Given the description of an element on the screen output the (x, y) to click on. 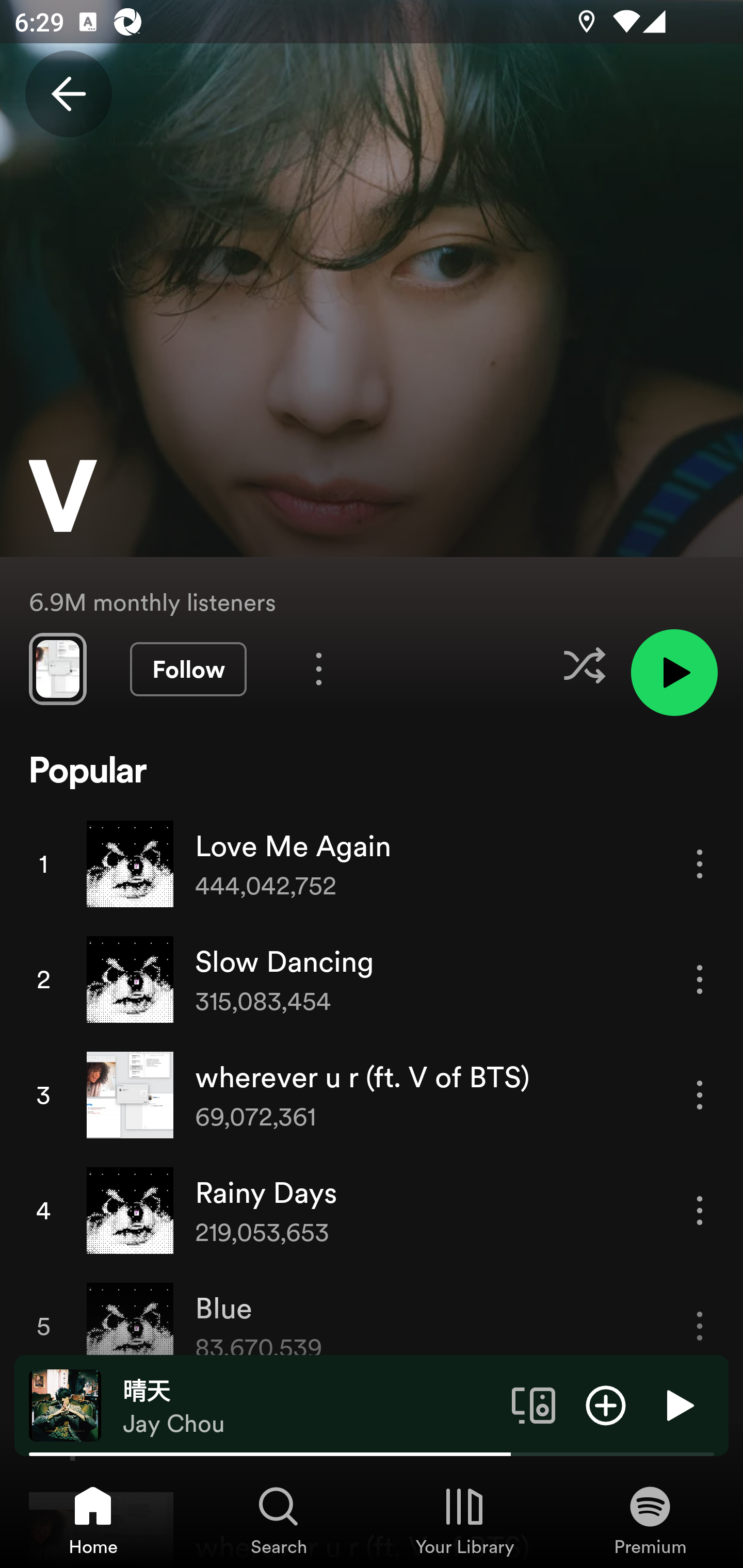
Back (68, 93)
Enable shuffle for this artist (583, 665)
More options for artist V (318, 668)
Play artist (674, 672)
Follow (188, 669)
More options for song Love Me Again (699, 863)
More options for song Slow Dancing (699, 979)
More options for song wherever u r (ft. V of BTS) (699, 1095)
More options for song Rainy Days (699, 1210)
5 Blue 83,670,539 More options for song Blue (371, 1326)
More options for song Blue (699, 1325)
晴天 Jay Chou (309, 1405)
The cover art of the currently playing track (64, 1404)
Connect to a device. Opens the devices menu (533, 1404)
Add item (605, 1404)
Play (677, 1404)
Home, Tab 1 of 4 Home Home (92, 1519)
Search, Tab 2 of 4 Search Search (278, 1519)
Your Library, Tab 3 of 4 Your Library Your Library (464, 1519)
Premium, Tab 4 of 4 Premium Premium (650, 1519)
